Given the description of an element on the screen output the (x, y) to click on. 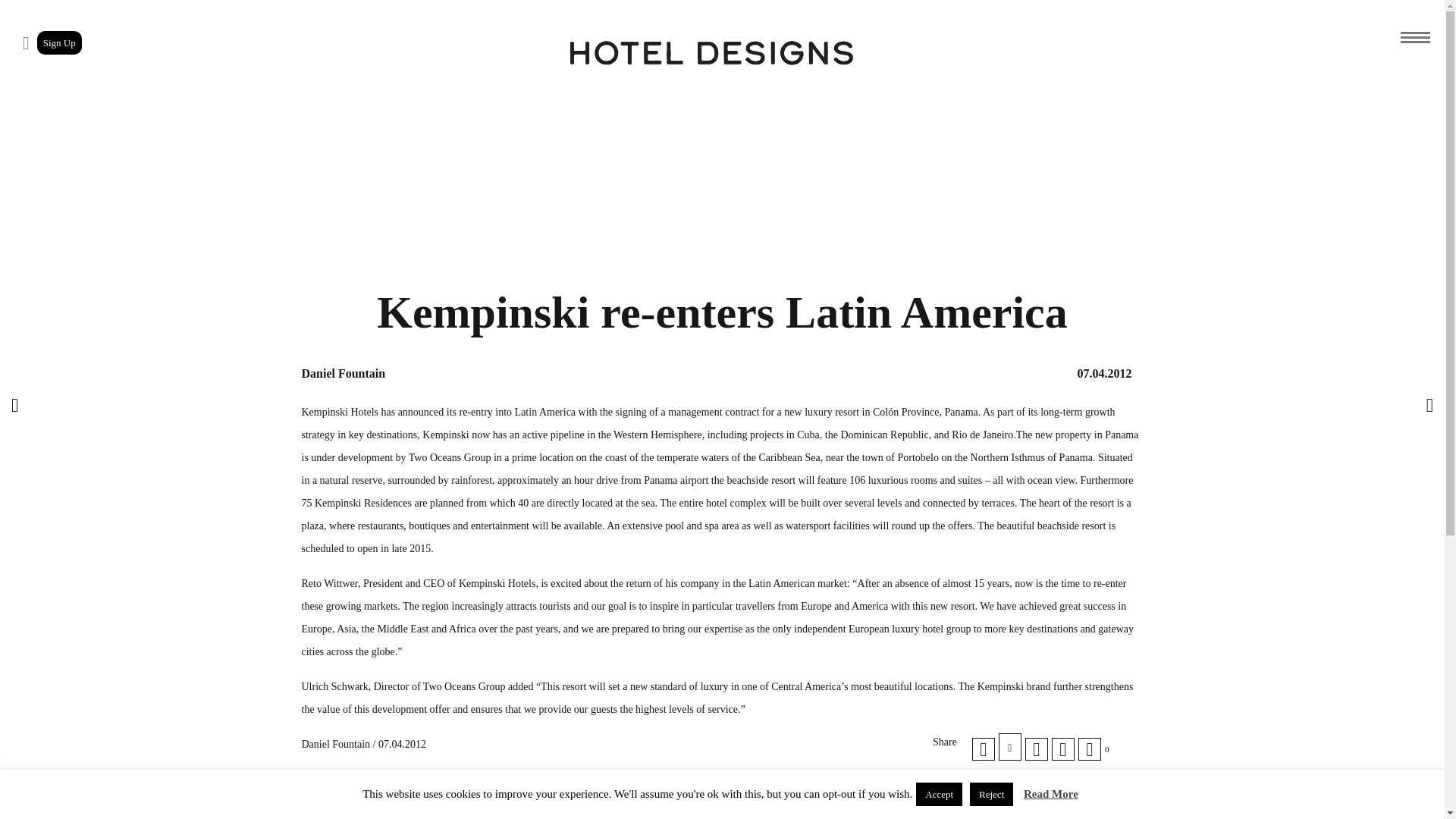
Kempinski re-enters Latin America (983, 748)
Kempinski re-enters Latin America (1036, 748)
Kempinski re-enters Latin America (1062, 748)
Sign Up (59, 42)
Hotel Designs (711, 52)
